Given the description of an element on the screen output the (x, y) to click on. 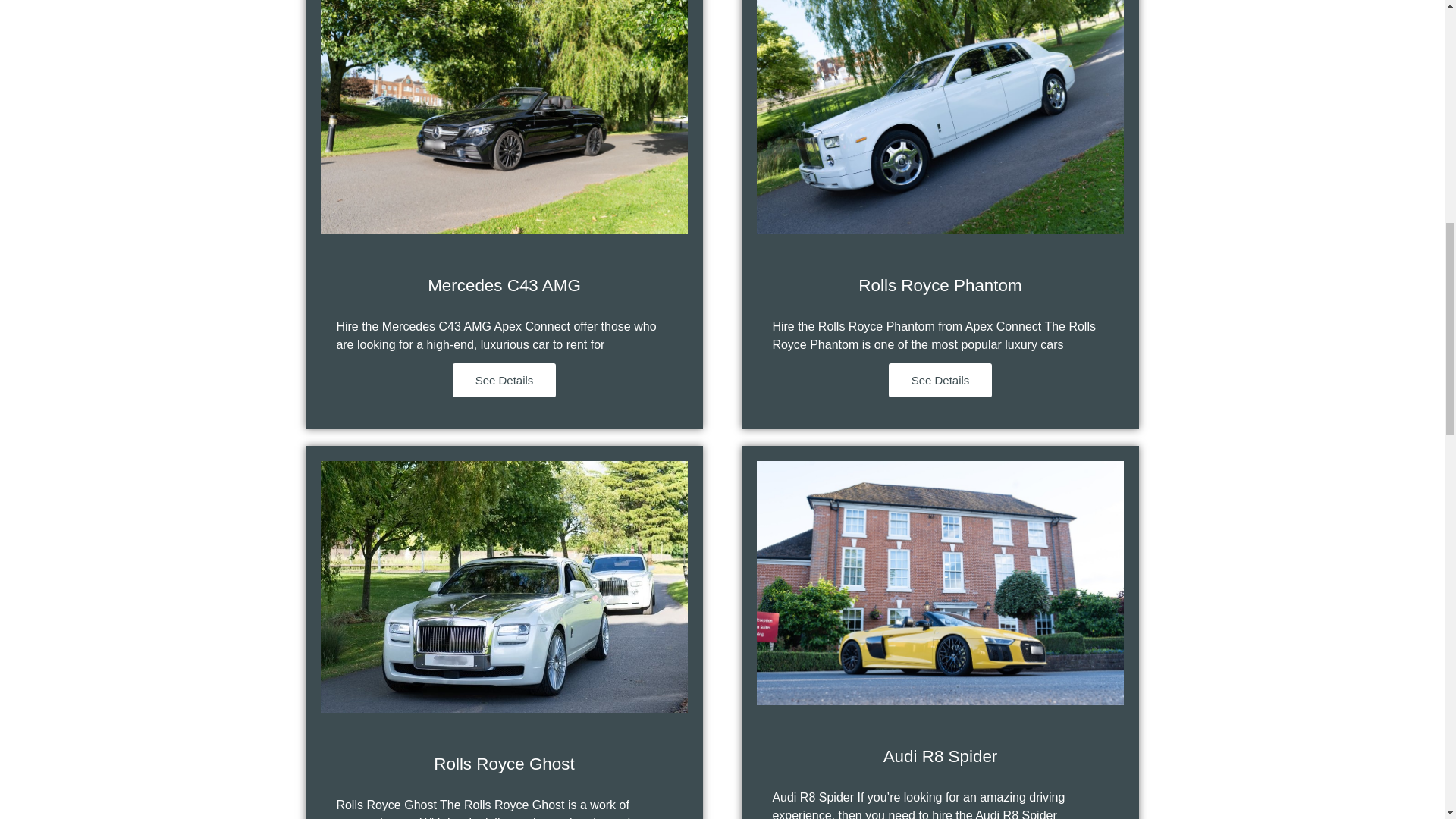
See Details (504, 379)
Audi R8 Spider (940, 755)
Rolls Royce Ghost (503, 763)
See Details (940, 379)
Rolls Royce Phantom (940, 285)
Mercedes C43 AMG (504, 285)
